Given the description of an element on the screen output the (x, y) to click on. 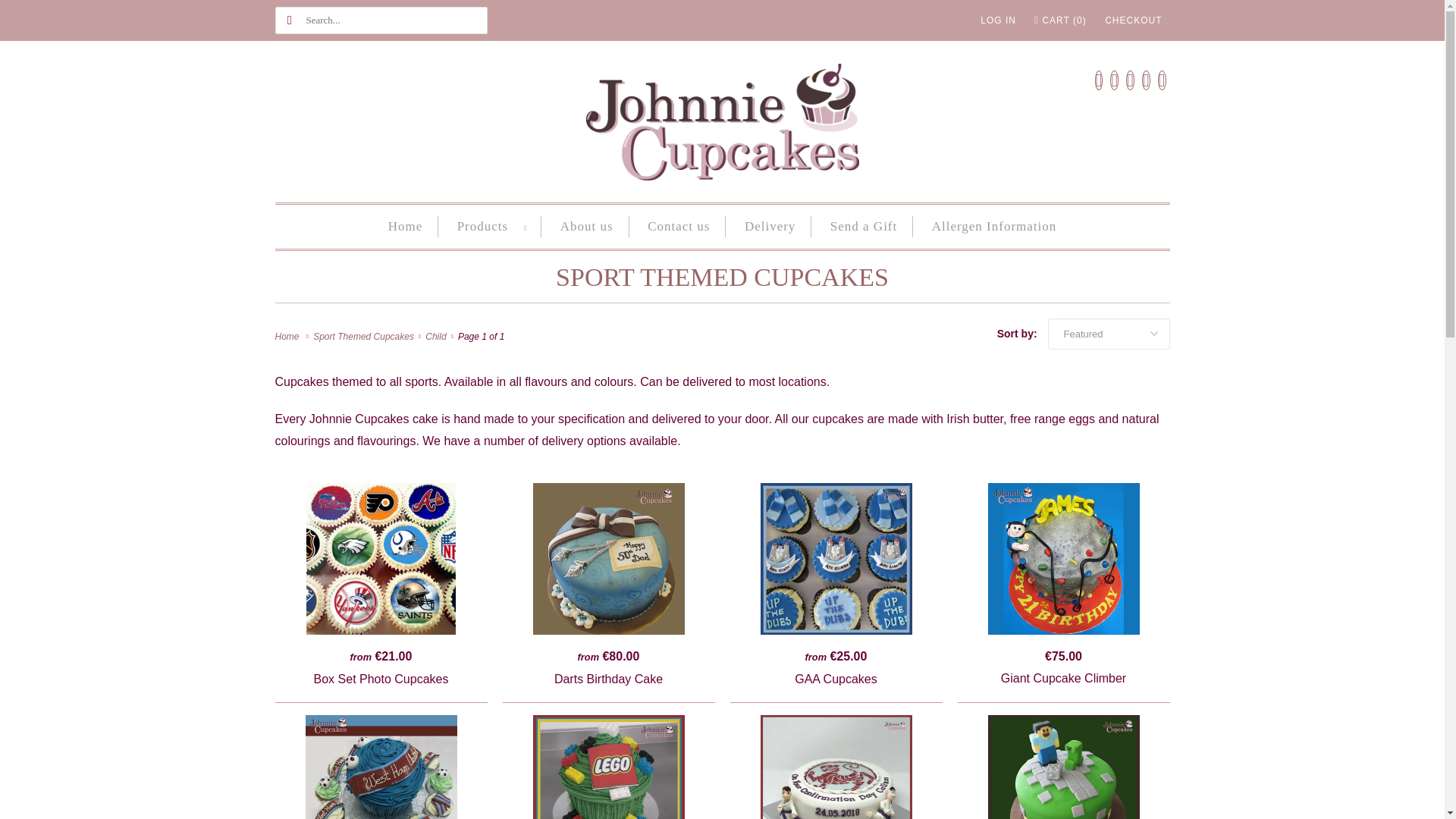
Johnnie Cupcakes (288, 336)
CHECKOUT (1133, 20)
Child (436, 336)
Sport Themed Cupcakes (722, 276)
Johnnie Cupcakes (722, 125)
LOG IN (997, 20)
Sport Themed Cupcakes (366, 336)
